Given the description of an element on the screen output the (x, y) to click on. 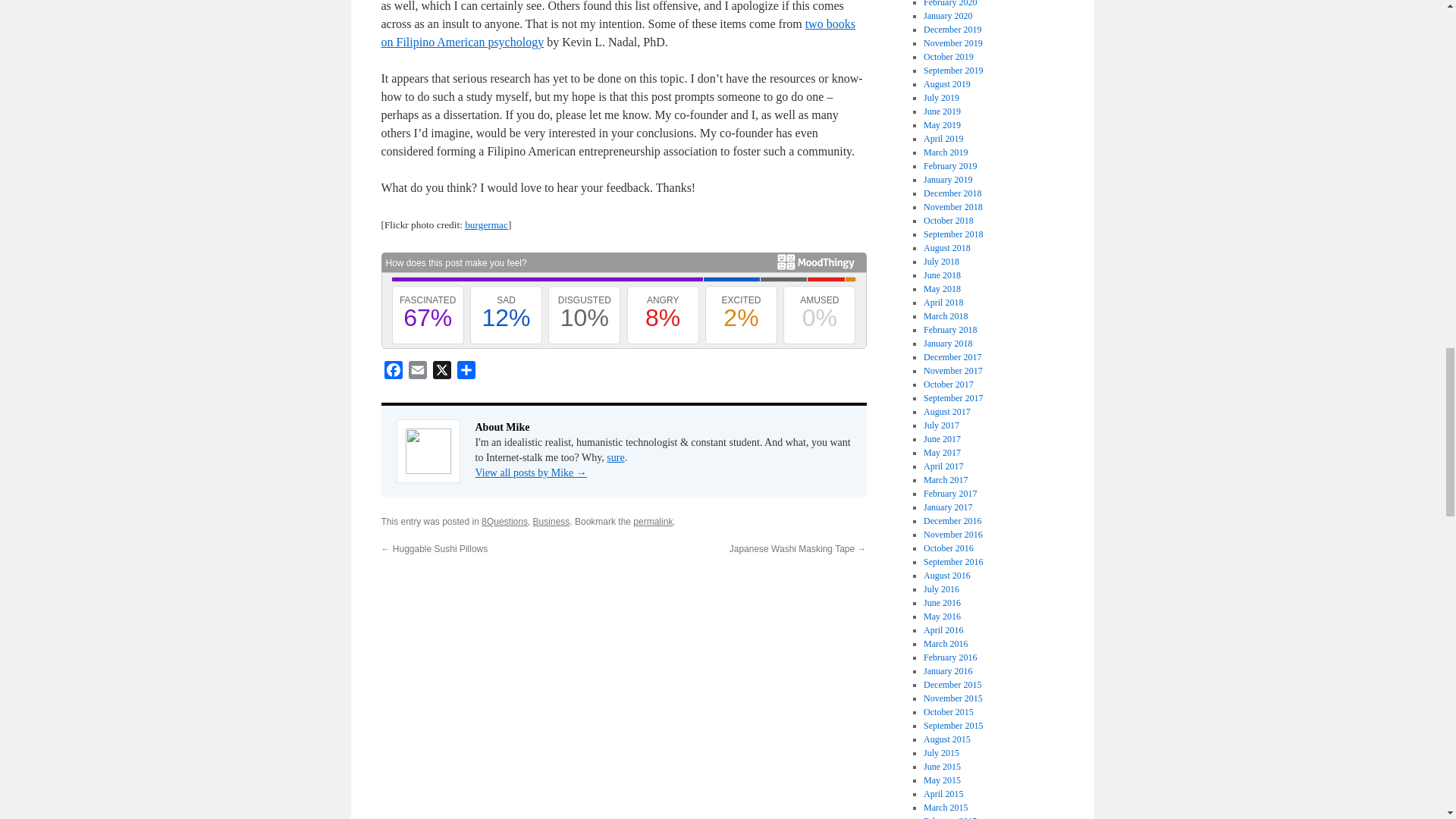
permalink (652, 521)
two books on Filipino American psychology (617, 32)
8Questions (504, 521)
Business (551, 521)
Facebook (392, 372)
X (440, 372)
X (440, 372)
Facebook (392, 372)
burgermac (486, 224)
Share (464, 372)
